Given the description of an element on the screen output the (x, y) to click on. 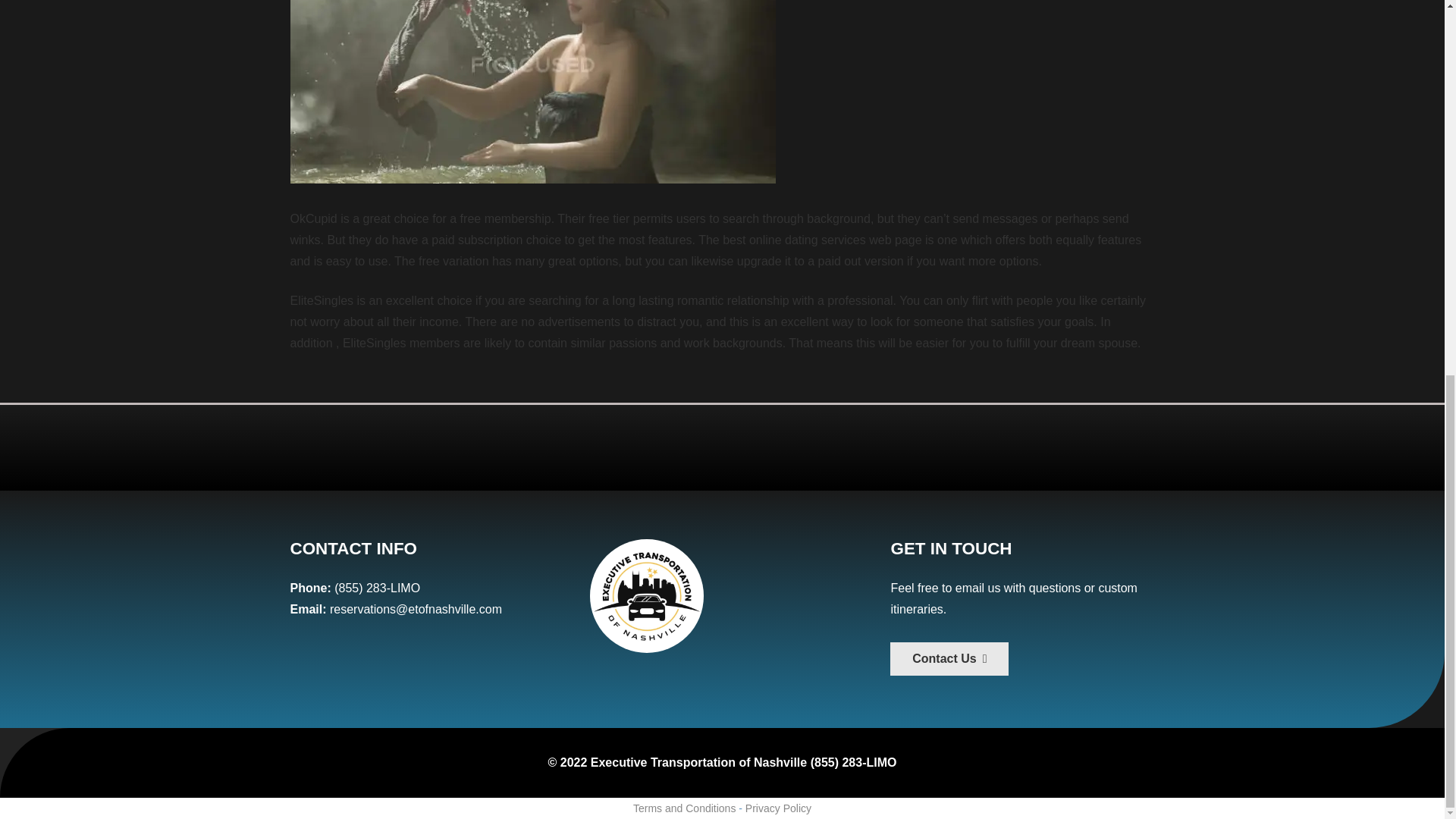
Privacy Policy (777, 808)
Terms and Conditions (684, 808)
Contact Us (949, 659)
